Given the description of an element on the screen output the (x, y) to click on. 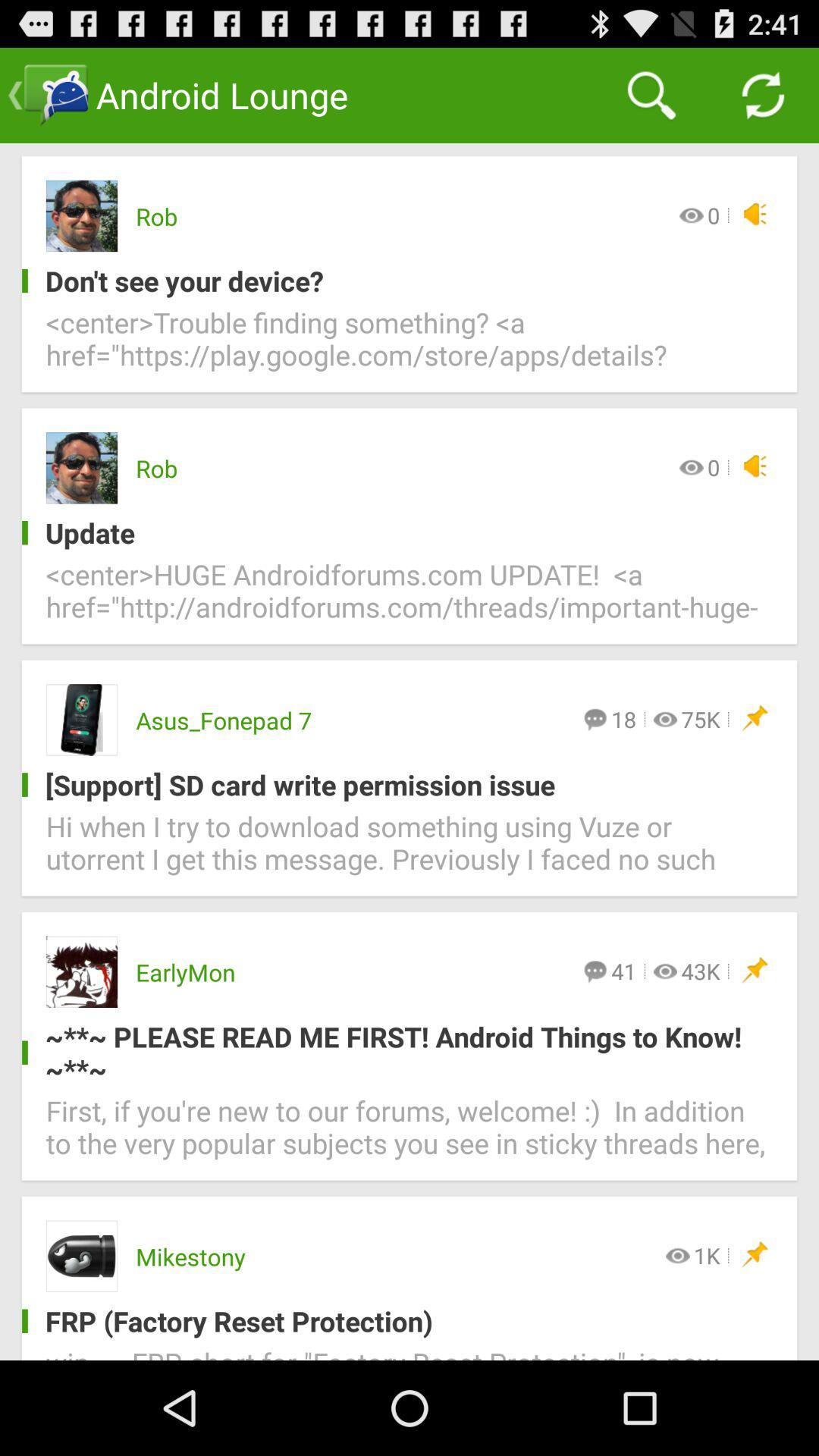
scroll until 43k icon (700, 971)
